Given the description of an element on the screen output the (x, y) to click on. 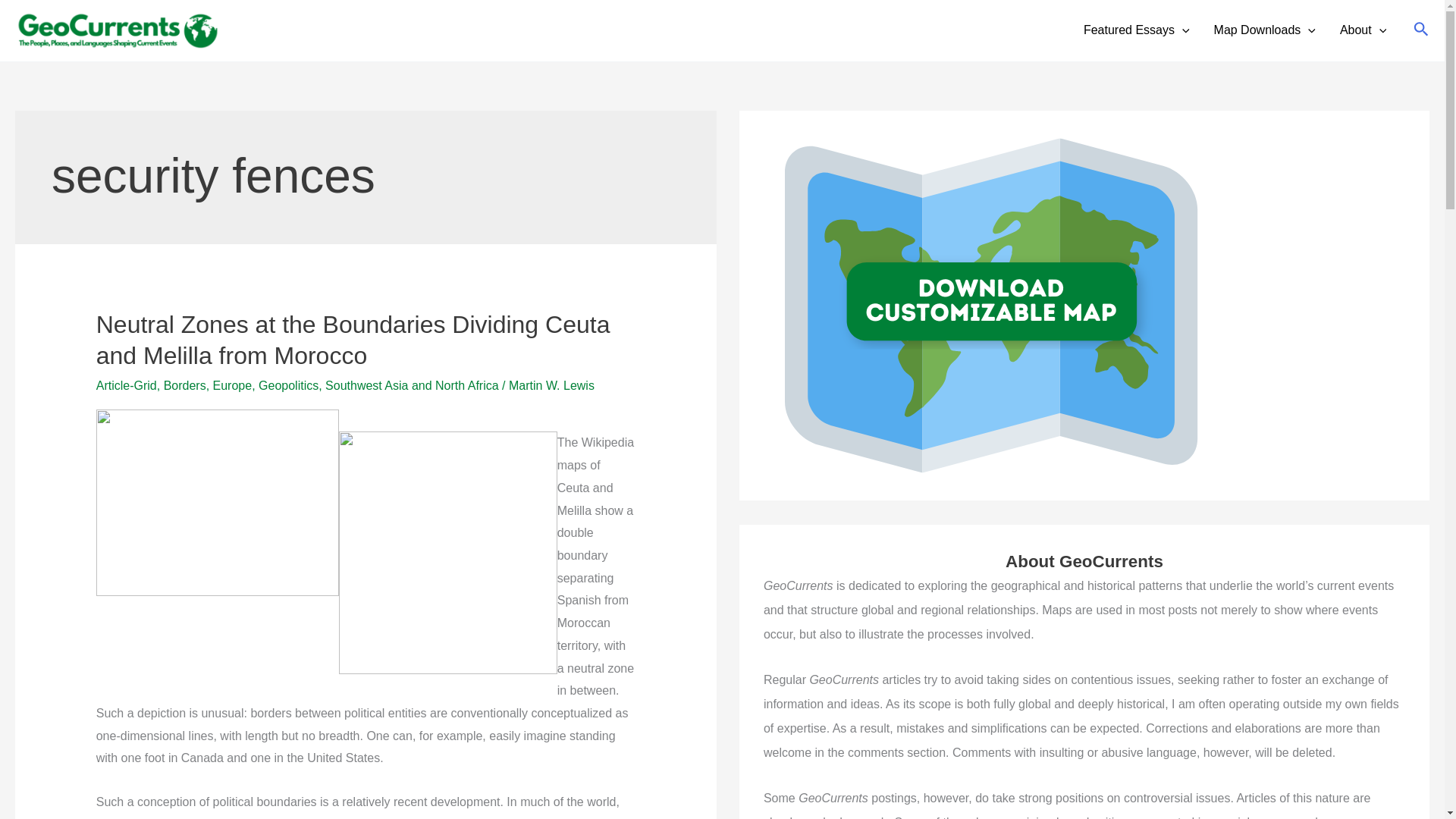
Map Downloads (1264, 30)
Search (1421, 30)
About (1362, 30)
View all posts by Martin W. Lewis (551, 385)
Featured Essays (1136, 30)
